Given the description of an element on the screen output the (x, y) to click on. 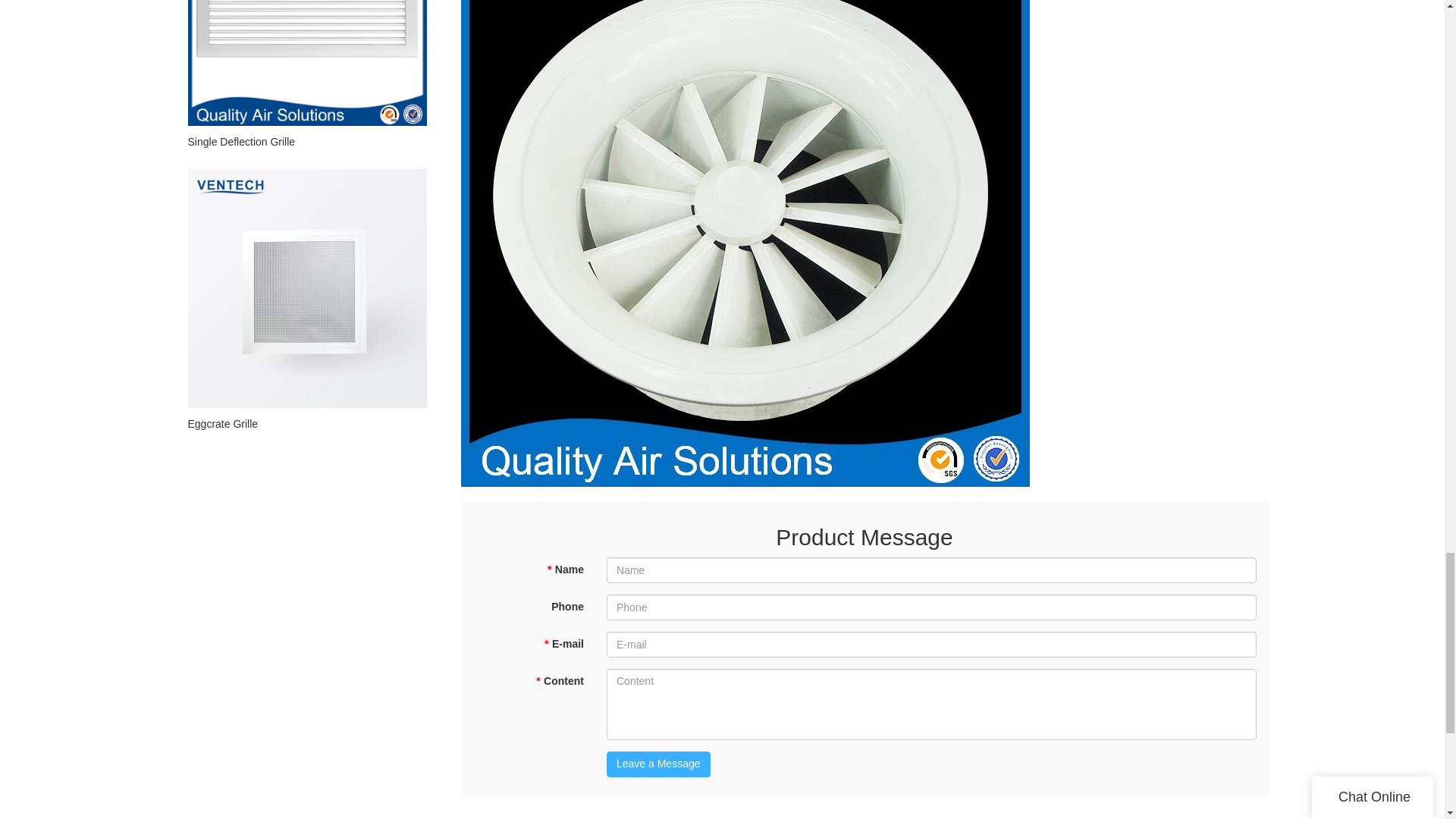
Eggcrate Grille (306, 423)
Single Deflection Grille (306, 141)
